Given the description of an element on the screen output the (x, y) to click on. 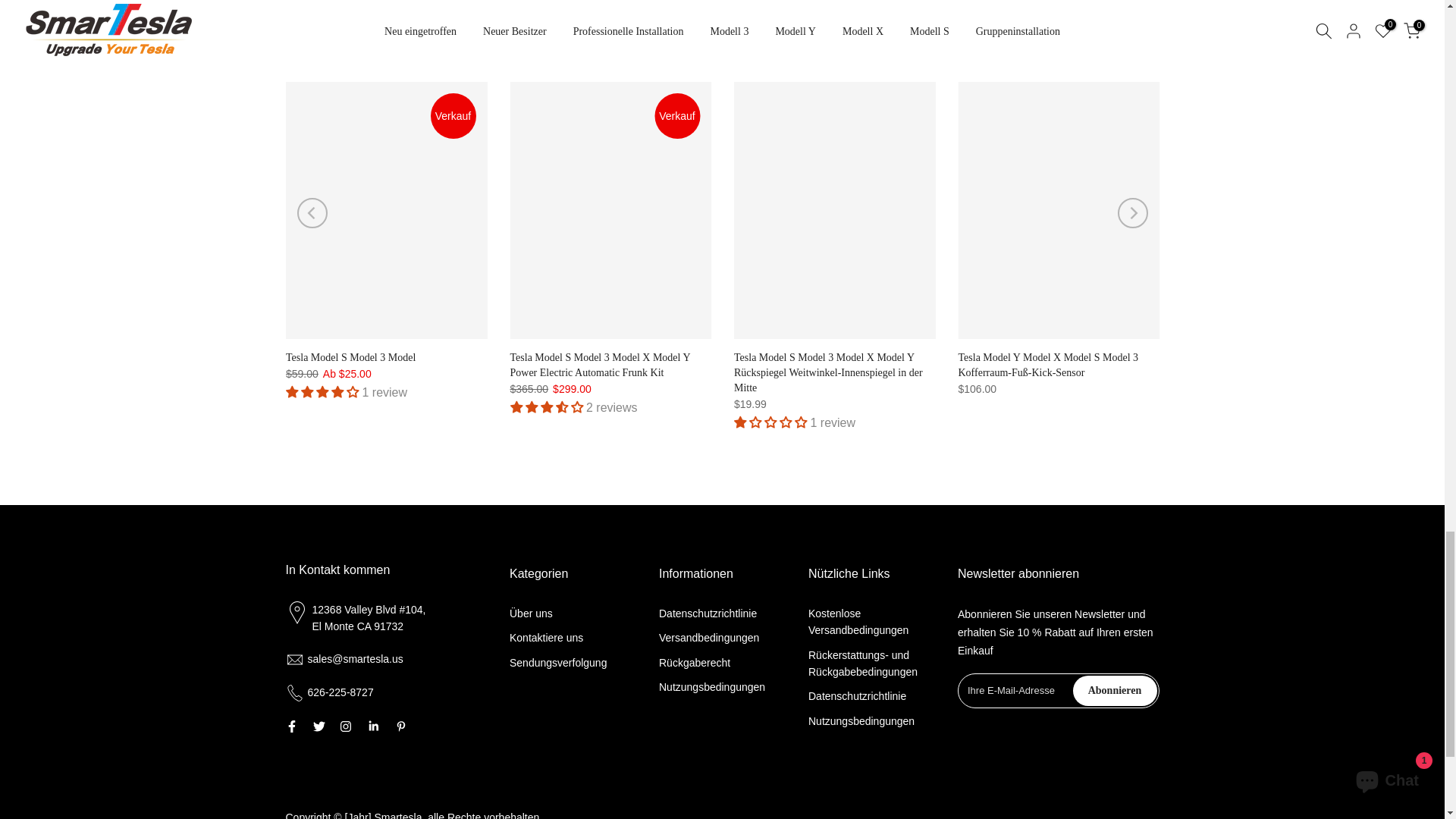
Folgen Sie auf Facebook (291, 726)
Auf Twitter folgen (318, 726)
Folgen Sie auf LinkedIn (372, 726)
Folgen Sie auf Pinterest (401, 726)
Folgen Sie auf Instagram (344, 726)
